Given the description of an element on the screen output the (x, y) to click on. 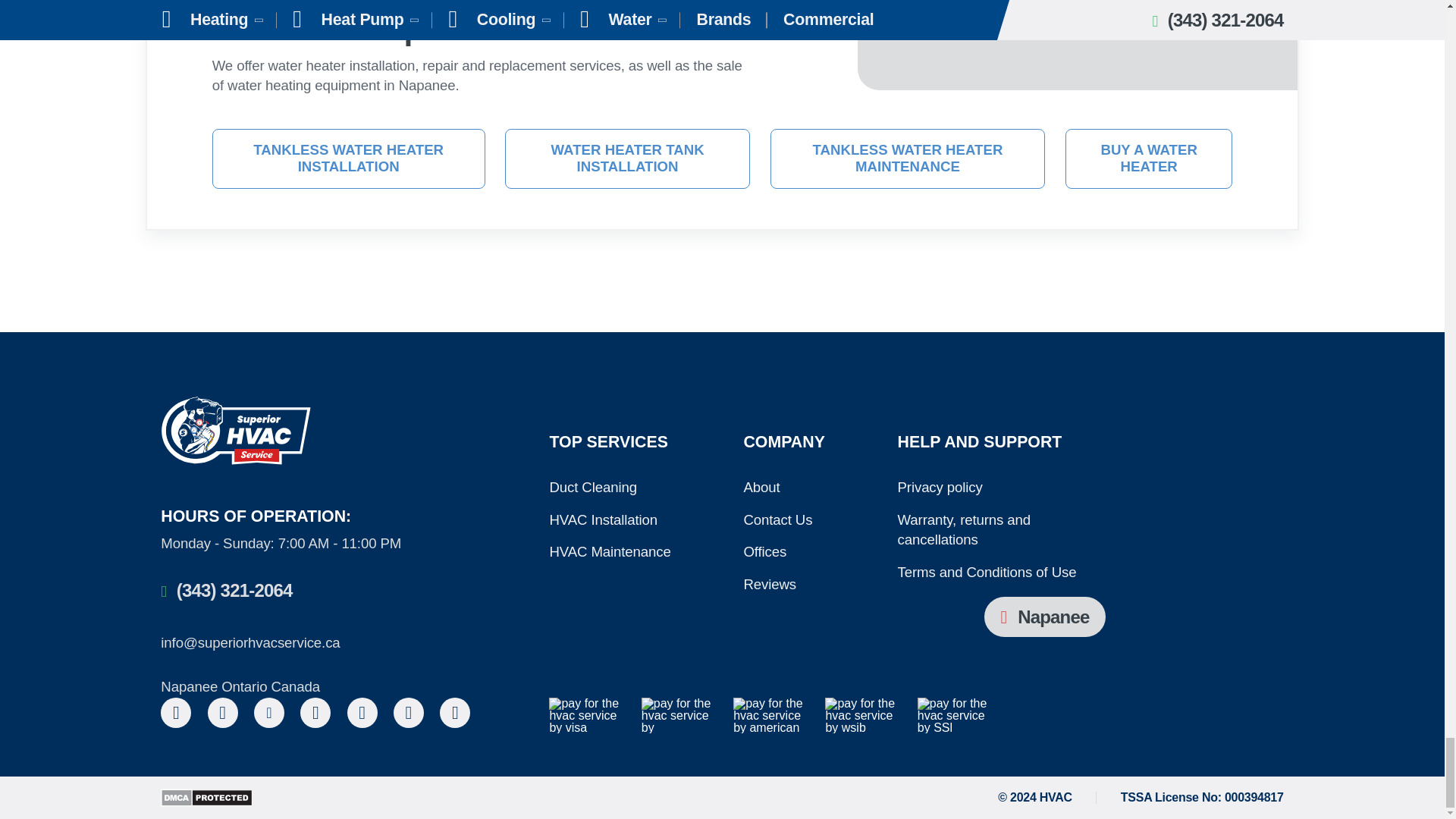
DMCA.com Protection Status (205, 797)
